Given the description of an element on the screen output the (x, y) to click on. 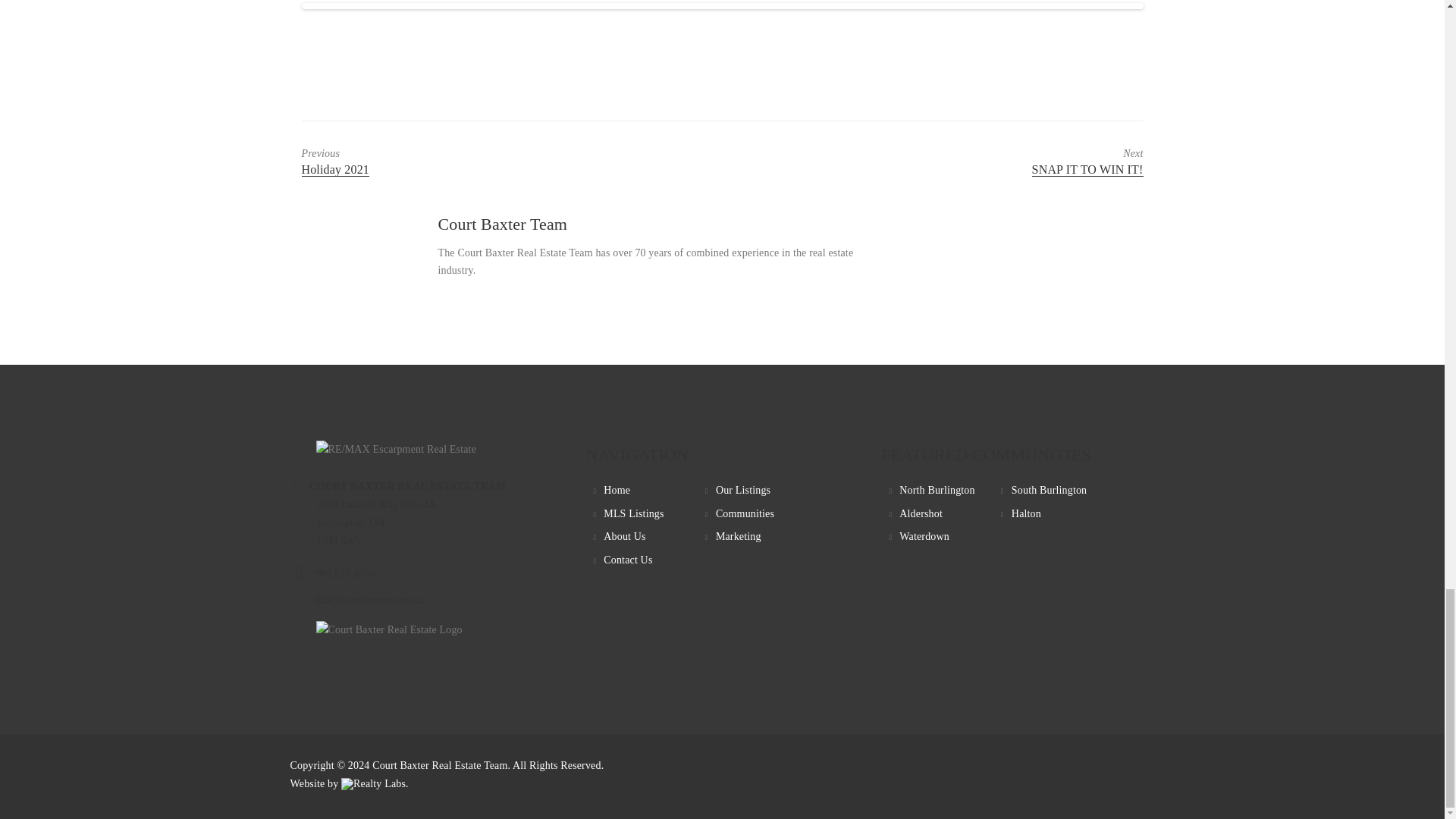
Contact Us (628, 559)
Marketing (738, 536)
Halton (1026, 513)
Aldershot (920, 513)
South Burlington (1048, 490)
About Us (624, 536)
Home (973, 162)
North Burlington (617, 490)
Our Listings (470, 162)
Waterdown (936, 490)
Communities (743, 490)
MLS Listings (924, 536)
